Given the description of an element on the screen output the (x, y) to click on. 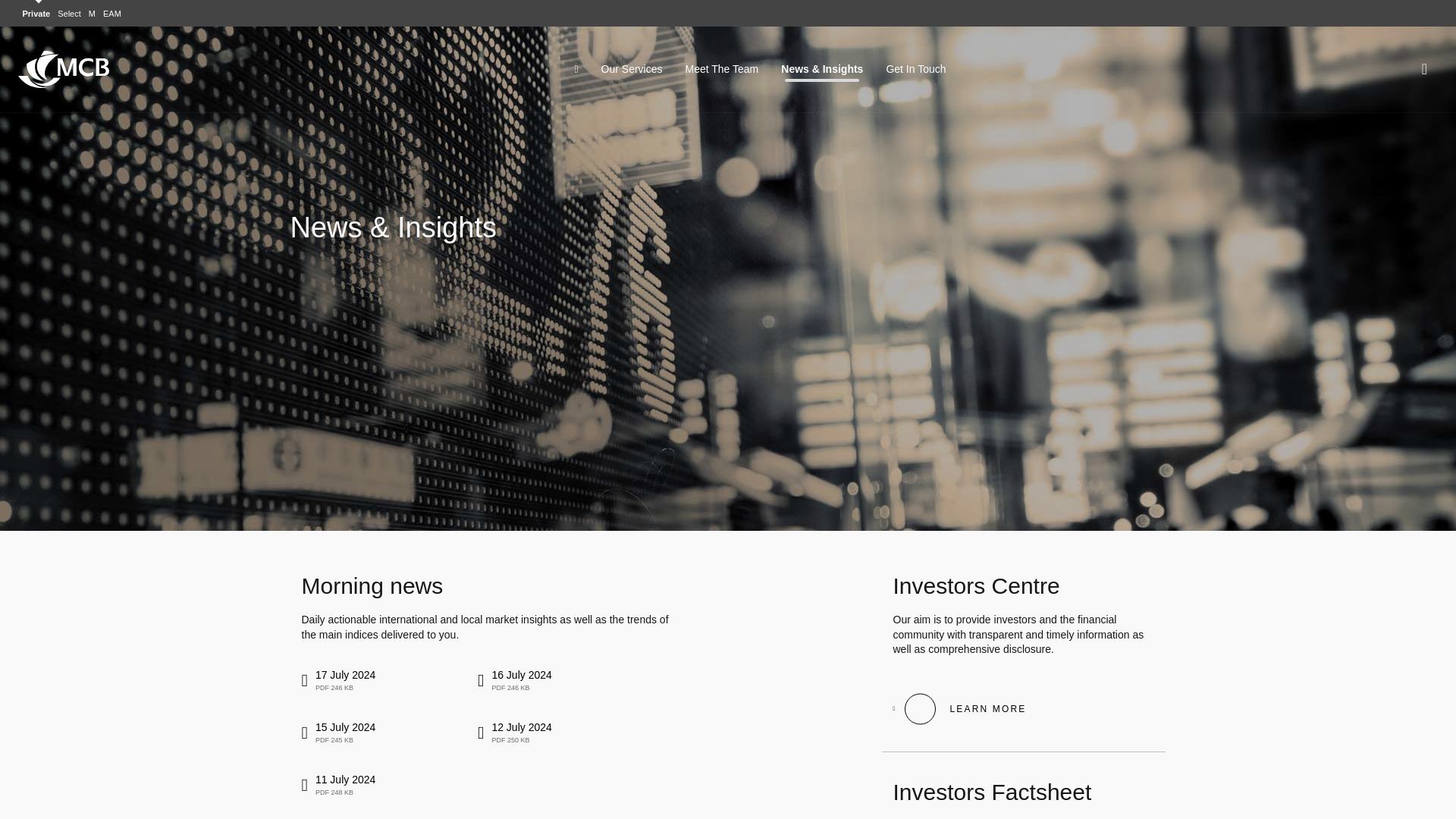
LEARN MORE (959, 708)
Our Services (514, 679)
Meet The Team (338, 732)
EAM (631, 68)
Private (338, 784)
icon (721, 68)
Select (111, 13)
icon (36, 13)
Get In Touch (575, 69)
